Given the description of an element on the screen output the (x, y) to click on. 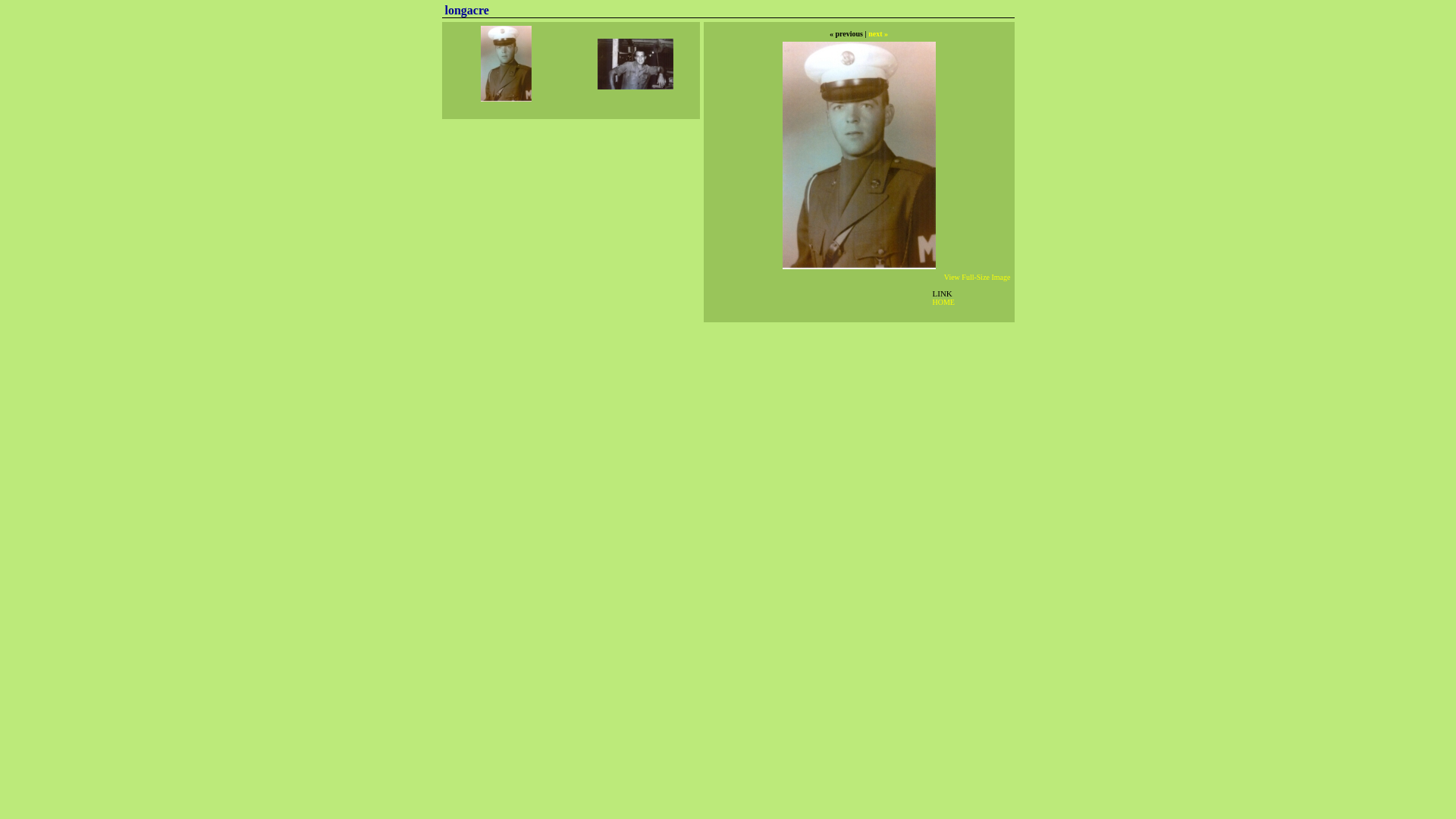
HOME Element type: text (943, 302)
View Full-Size Image Element type: text (977, 277)
